Given the description of an element on the screen output the (x, y) to click on. 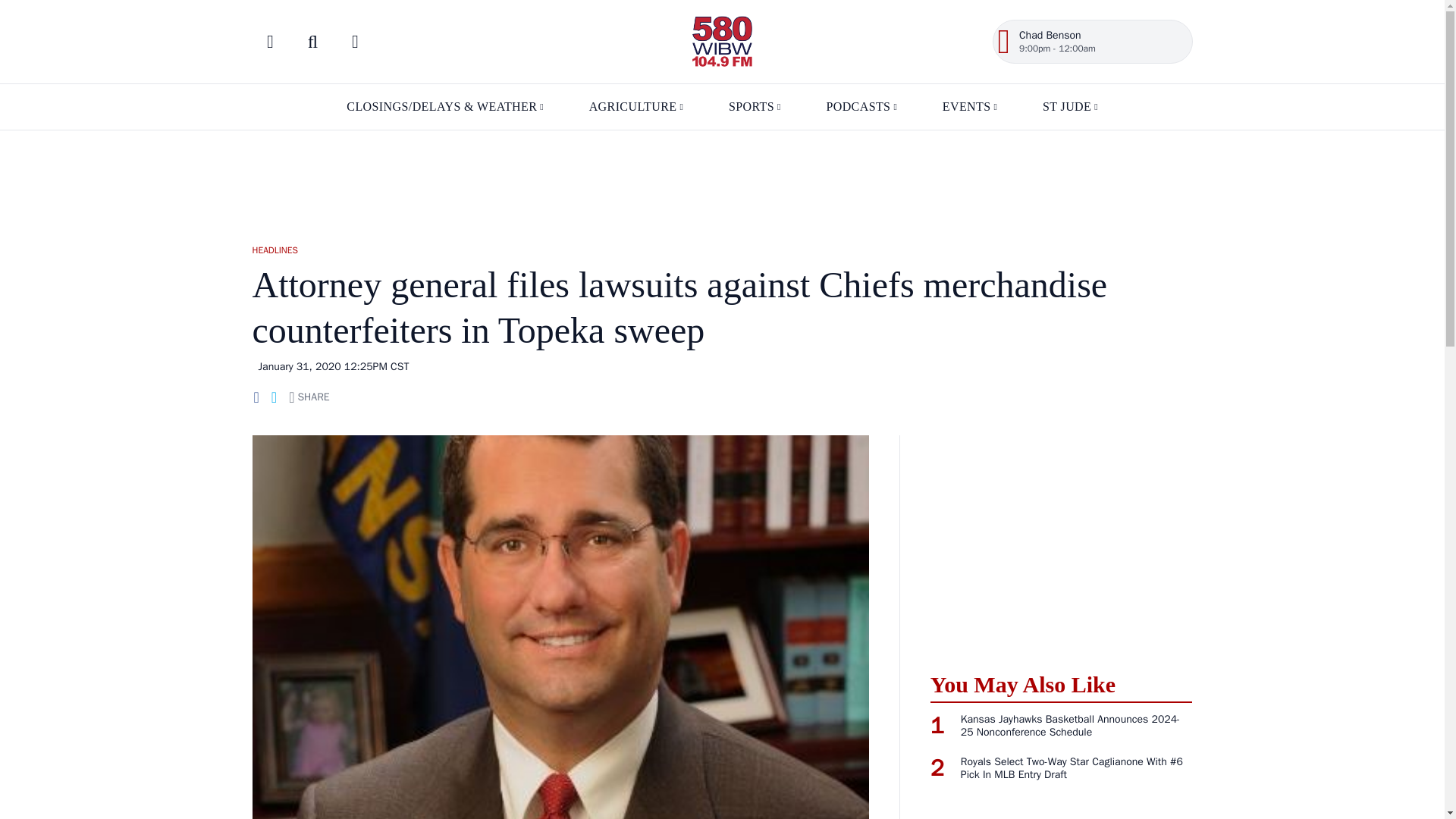
3rd party ad content (721, 179)
3rd party ad content (1060, 544)
